Given the description of an element on the screen output the (x, y) to click on. 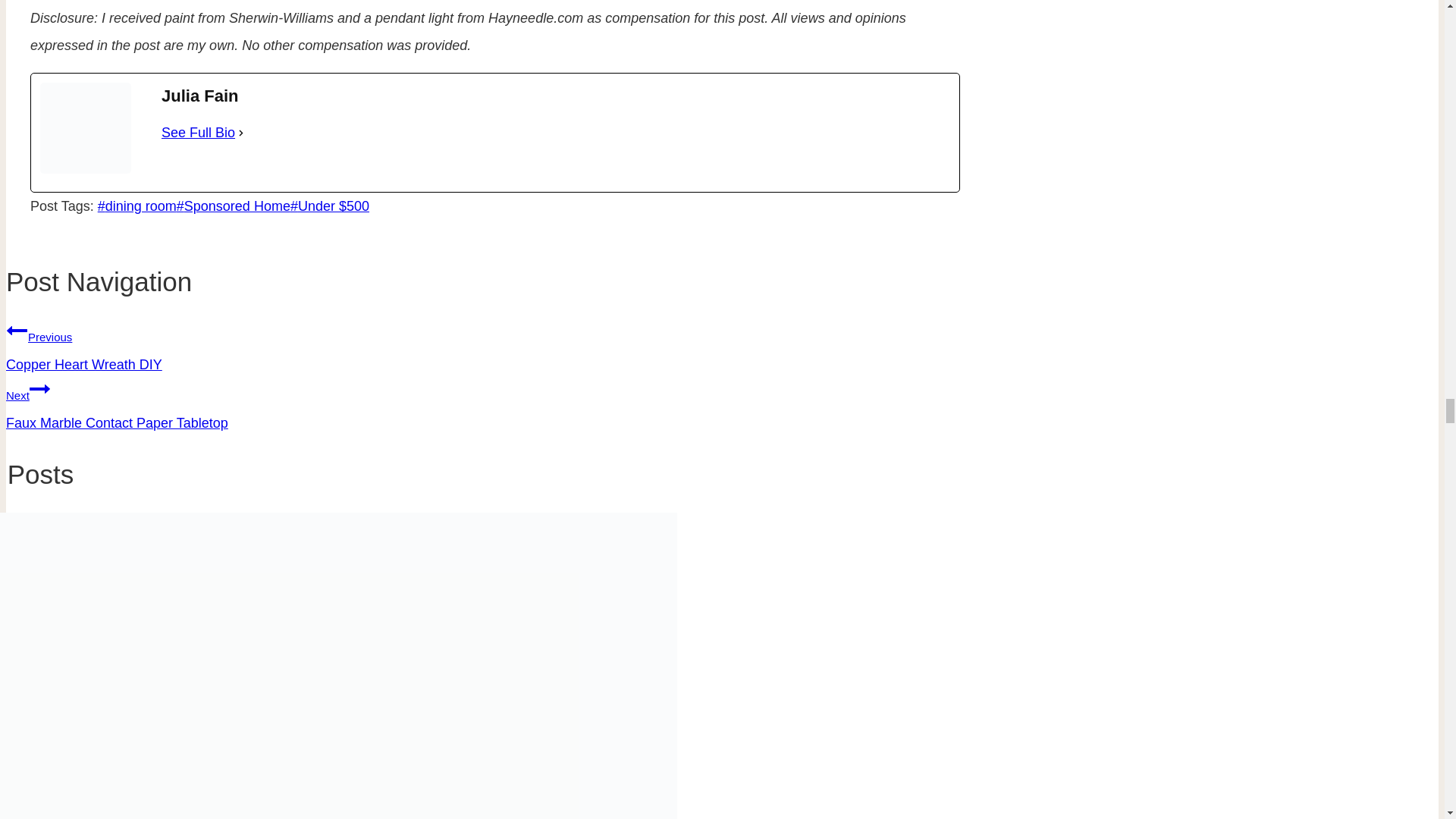
See Full Bio (197, 132)
Previous (16, 330)
Continue (39, 388)
